Given the description of an element on the screen output the (x, y) to click on. 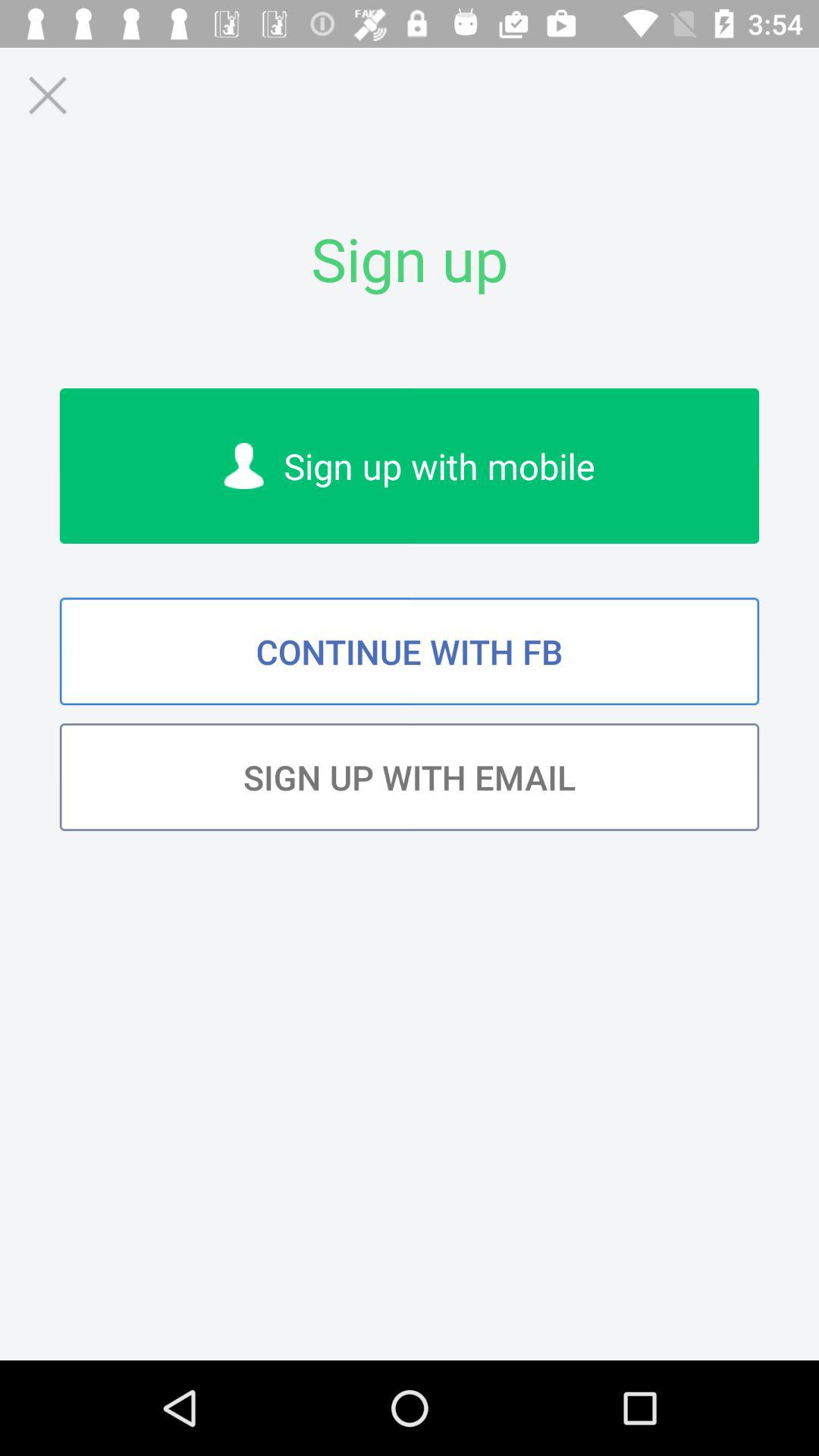
open icon below the sign up with icon (409, 651)
